Given the description of an element on the screen output the (x, y) to click on. 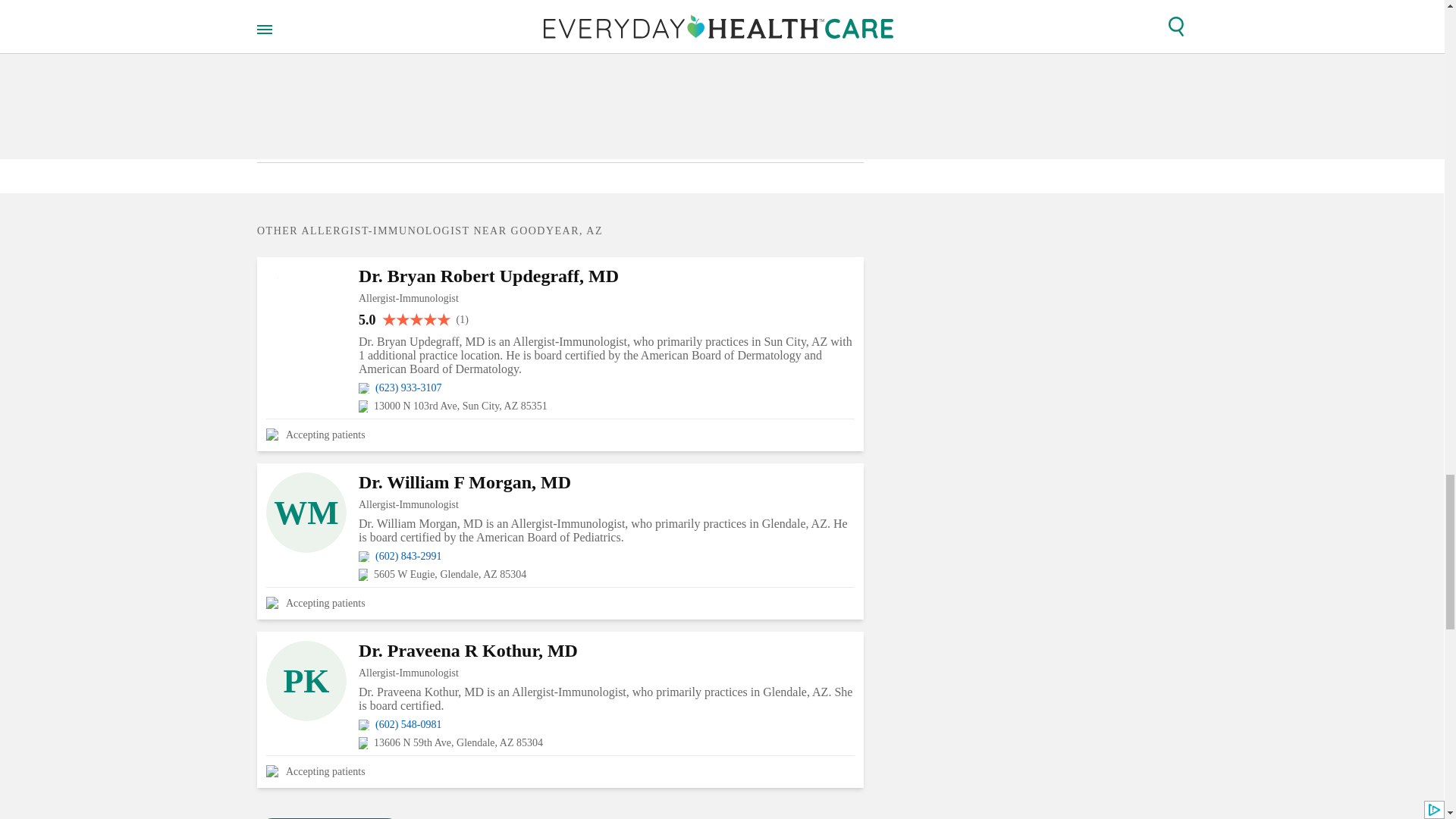
Dr. Praveena R Kothur, MD (606, 650)
Dr. Bryan Robert Updegraff, MD (606, 276)
Dr. William F Morgan, MD (606, 482)
